Given the description of an element on the screen output the (x, y) to click on. 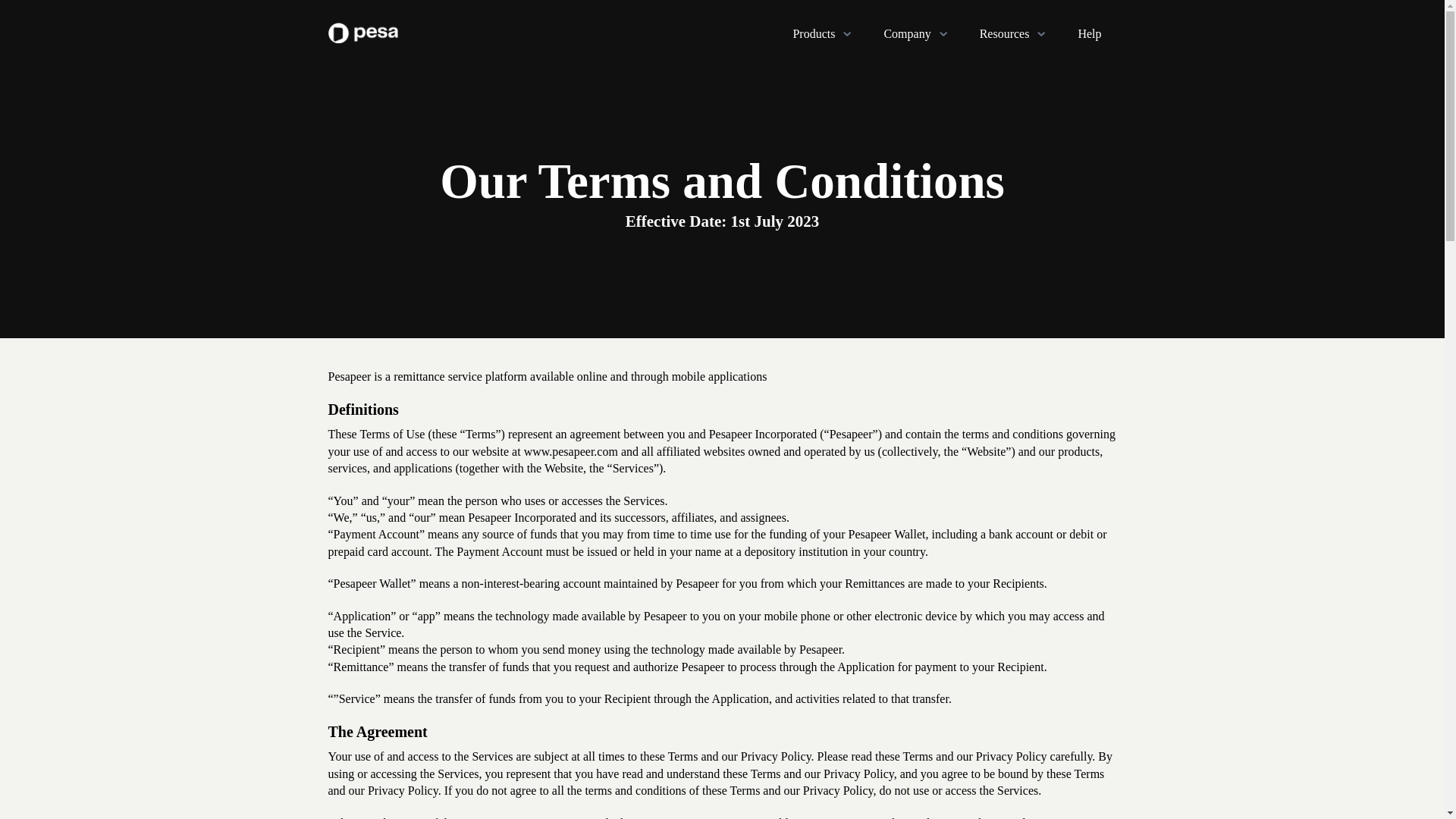
Resources (1013, 33)
Help (1088, 33)
Products (822, 33)
Company (916, 33)
